Given the description of an element on the screen output the (x, y) to click on. 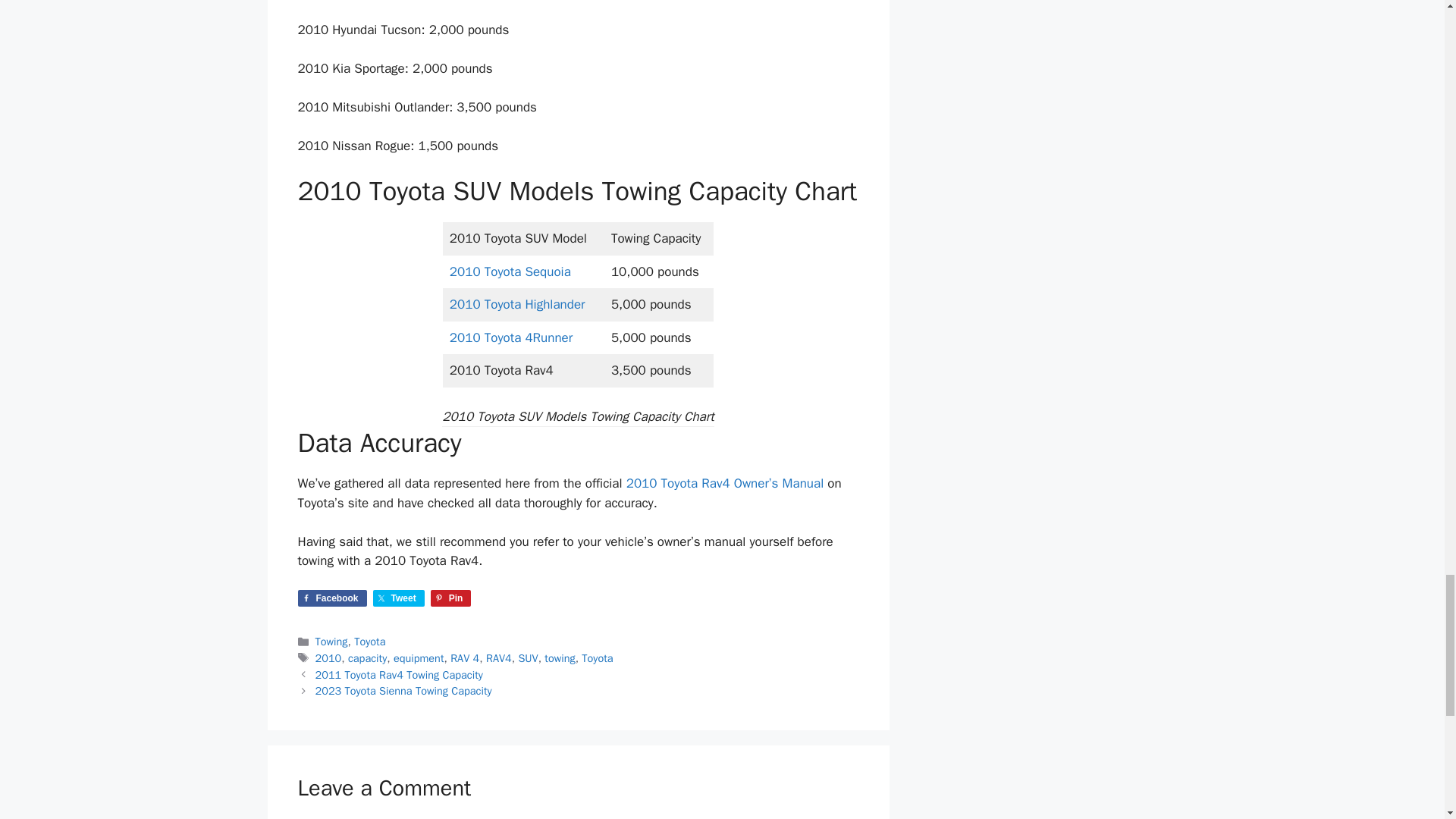
equipment (418, 658)
Tweet (398, 597)
Toyota (369, 641)
RAV4 (499, 658)
RAV 4 (464, 658)
Towing (331, 641)
Share on Twitter (398, 597)
Facebook (331, 597)
2010 Toyota Highlander  (519, 304)
2010 Toyota Sequoia (509, 271)
2010 (328, 658)
capacity (367, 658)
Share on Facebook (331, 597)
Pin (450, 597)
2010 Toyota 4Runner (510, 337)
